Given the description of an element on the screen output the (x, y) to click on. 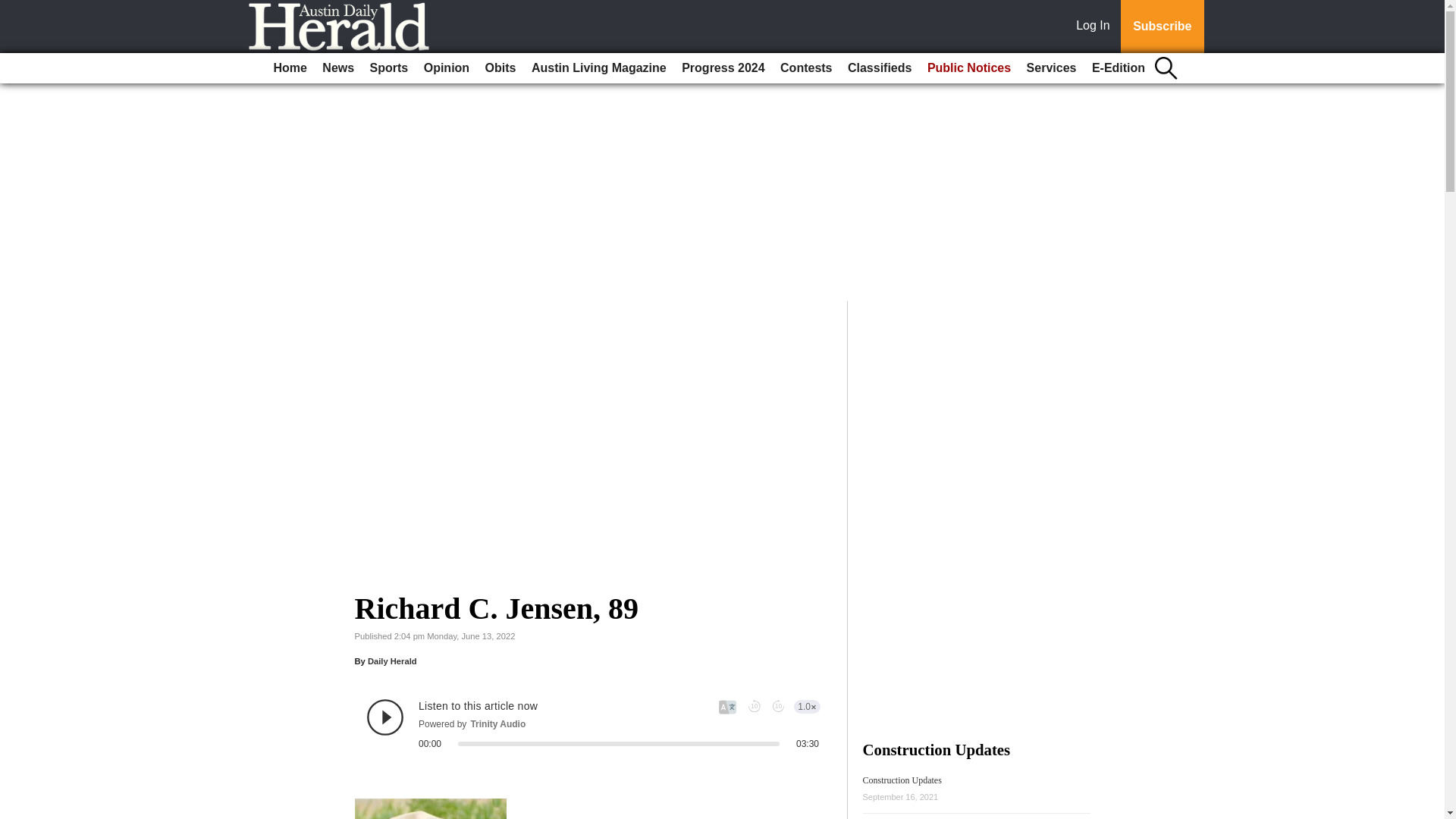
Opinion (446, 68)
Austin Living Magazine (598, 68)
News (337, 68)
Public Notices (968, 68)
Log In (1095, 26)
Progress 2024 (722, 68)
Obits (500, 68)
Contests (806, 68)
Sports (389, 68)
Classifieds (879, 68)
Services (1051, 68)
Trinity Audio Player (592, 723)
Home (289, 68)
Subscribe (1162, 26)
